Given the description of an element on the screen output the (x, y) to click on. 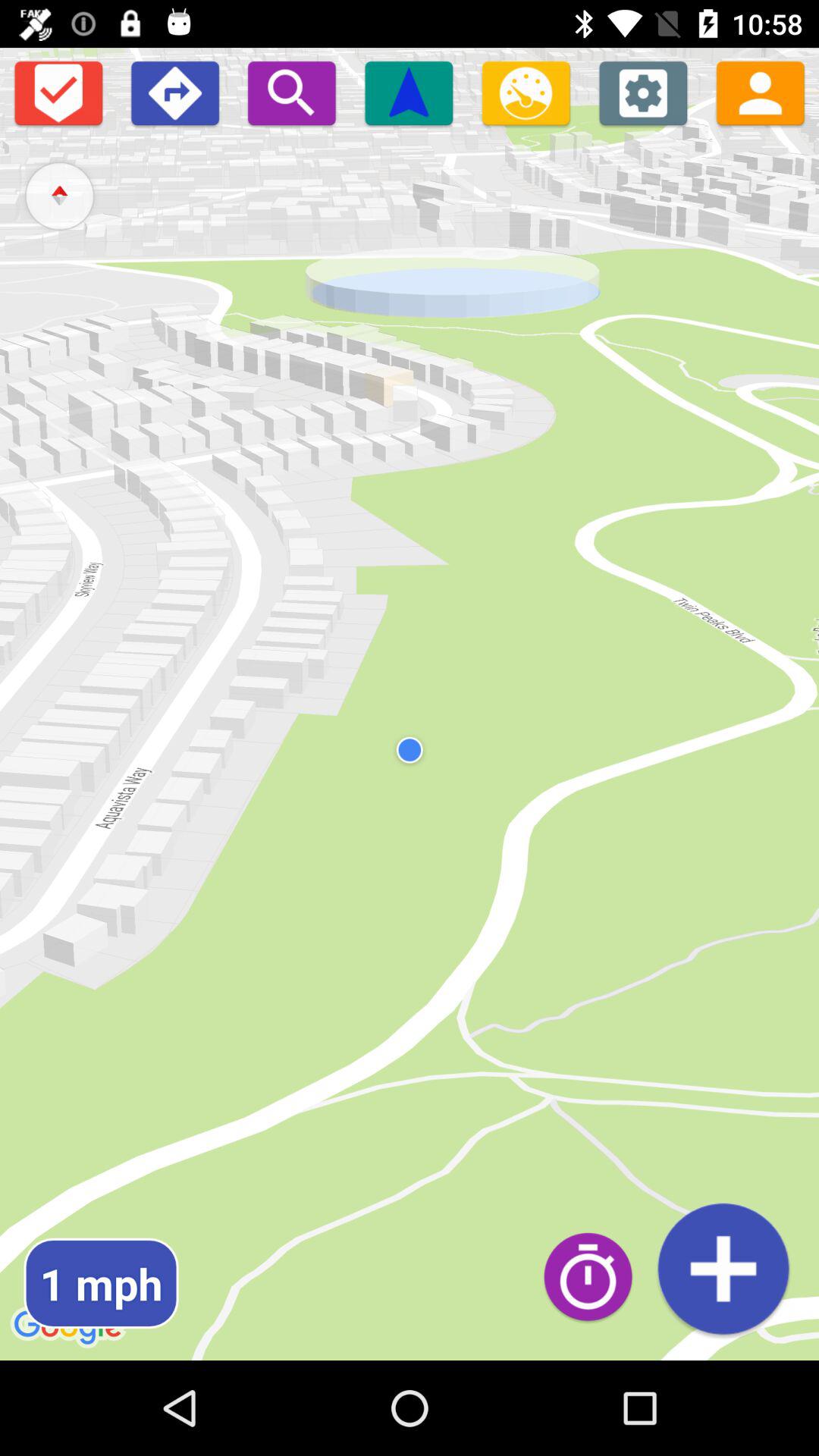
edit account (760, 92)
